Given the description of an element on the screen output the (x, y) to click on. 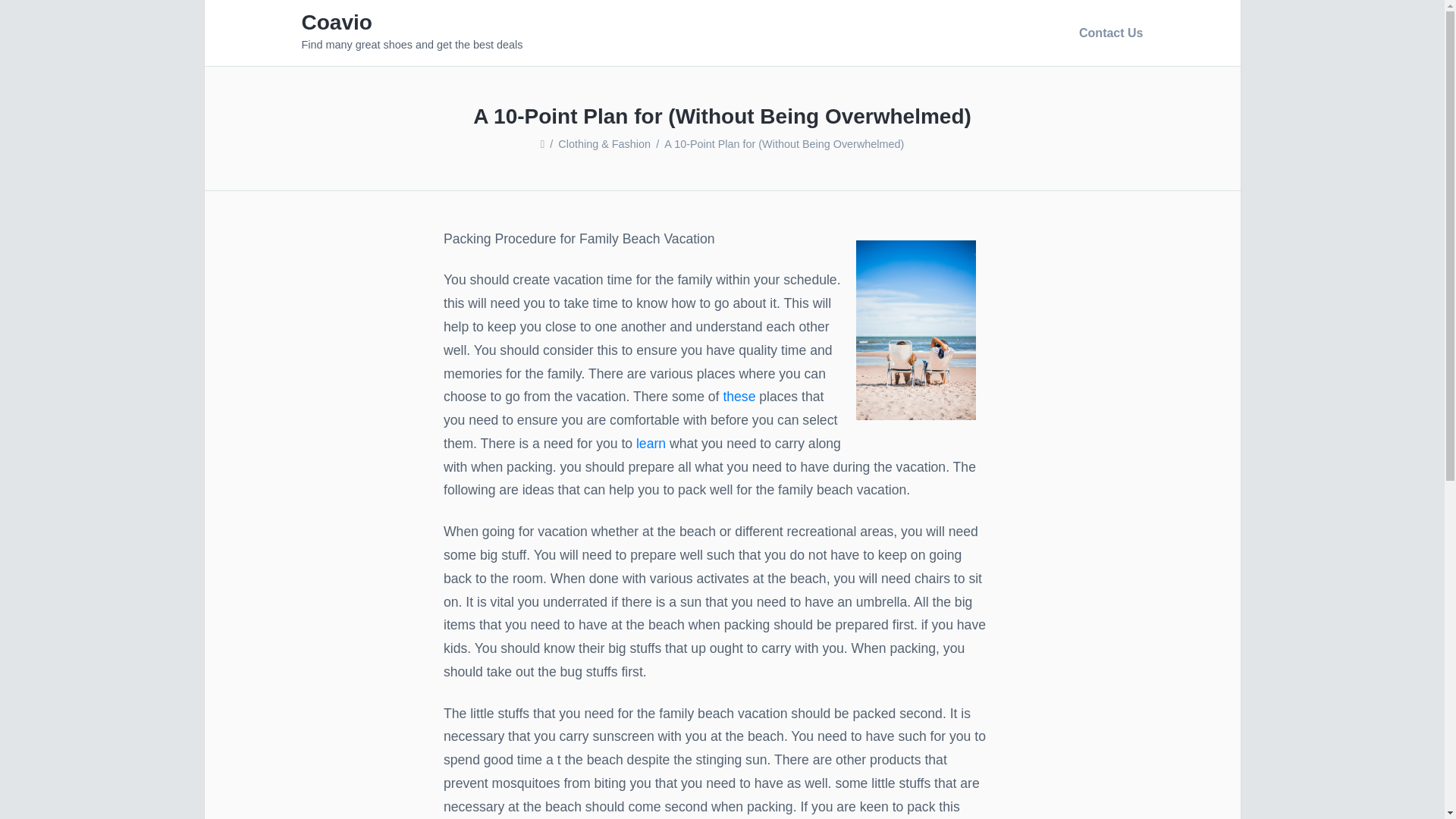
Coavio (336, 22)
these (740, 396)
Contact Us (1106, 32)
learn (652, 443)
